Given the description of an element on the screen output the (x, y) to click on. 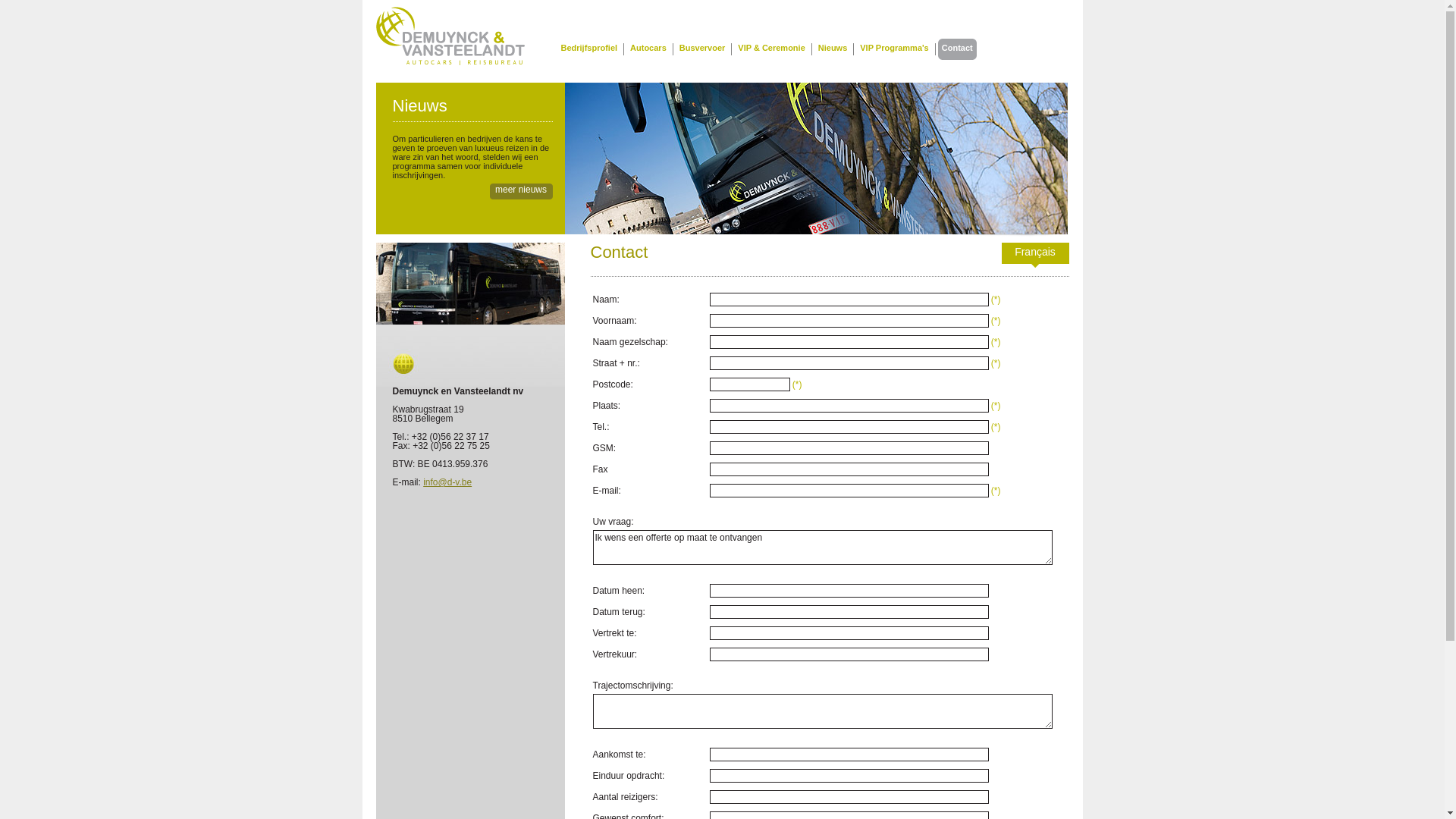
Autocars Element type: text (648, 48)
Contact Element type: text (957, 48)
Nieuws Element type: text (832, 48)
VIP Programma's Element type: text (893, 48)
meer nieuws Element type: text (520, 191)
Busvervoer Element type: text (702, 48)
VIP & Ceremonie Element type: text (771, 48)
info@d-v.be Element type: text (447, 481)
Bedrijfsprofiel Element type: text (588, 48)
